Given the description of an element on the screen output the (x, y) to click on. 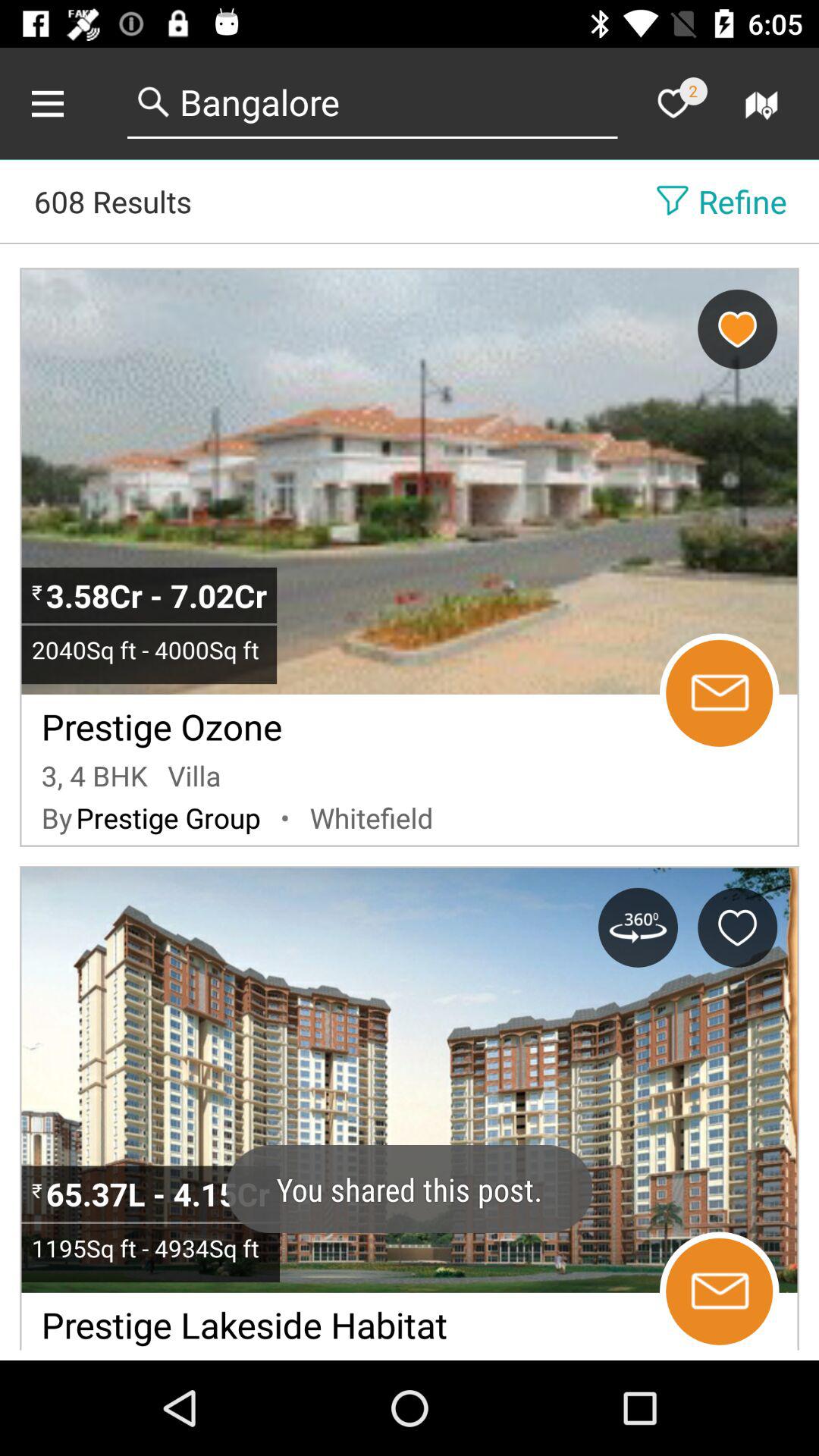
save as favorite (737, 329)
